Given the description of an element on the screen output the (x, y) to click on. 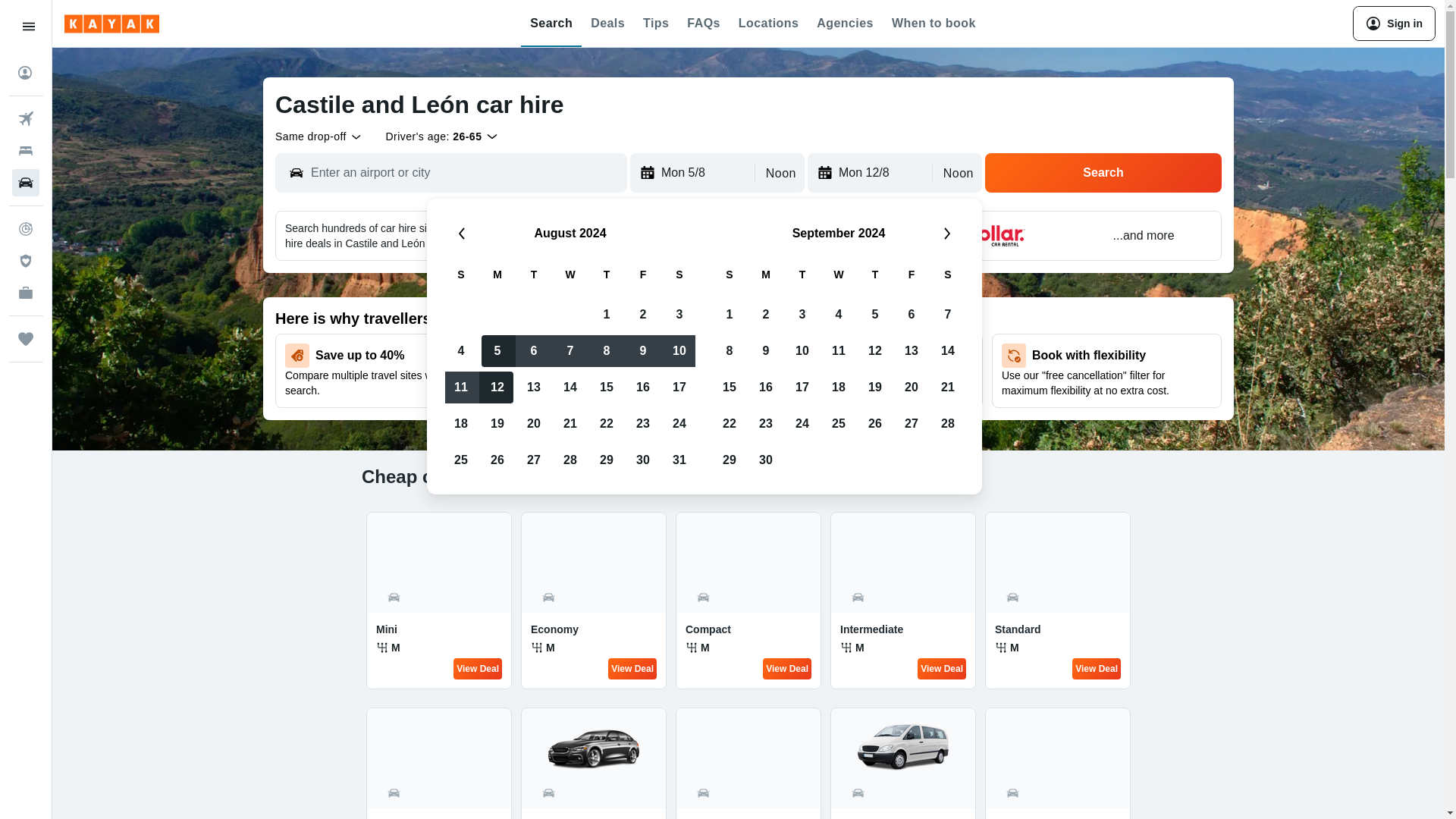
View Deal (477, 668)
View Deal (632, 668)
View Deal (786, 668)
Search (1103, 172)
View Deal (941, 668)
Search (1103, 172)
View Deal (1096, 668)
